Given the description of an element on the screen output the (x, y) to click on. 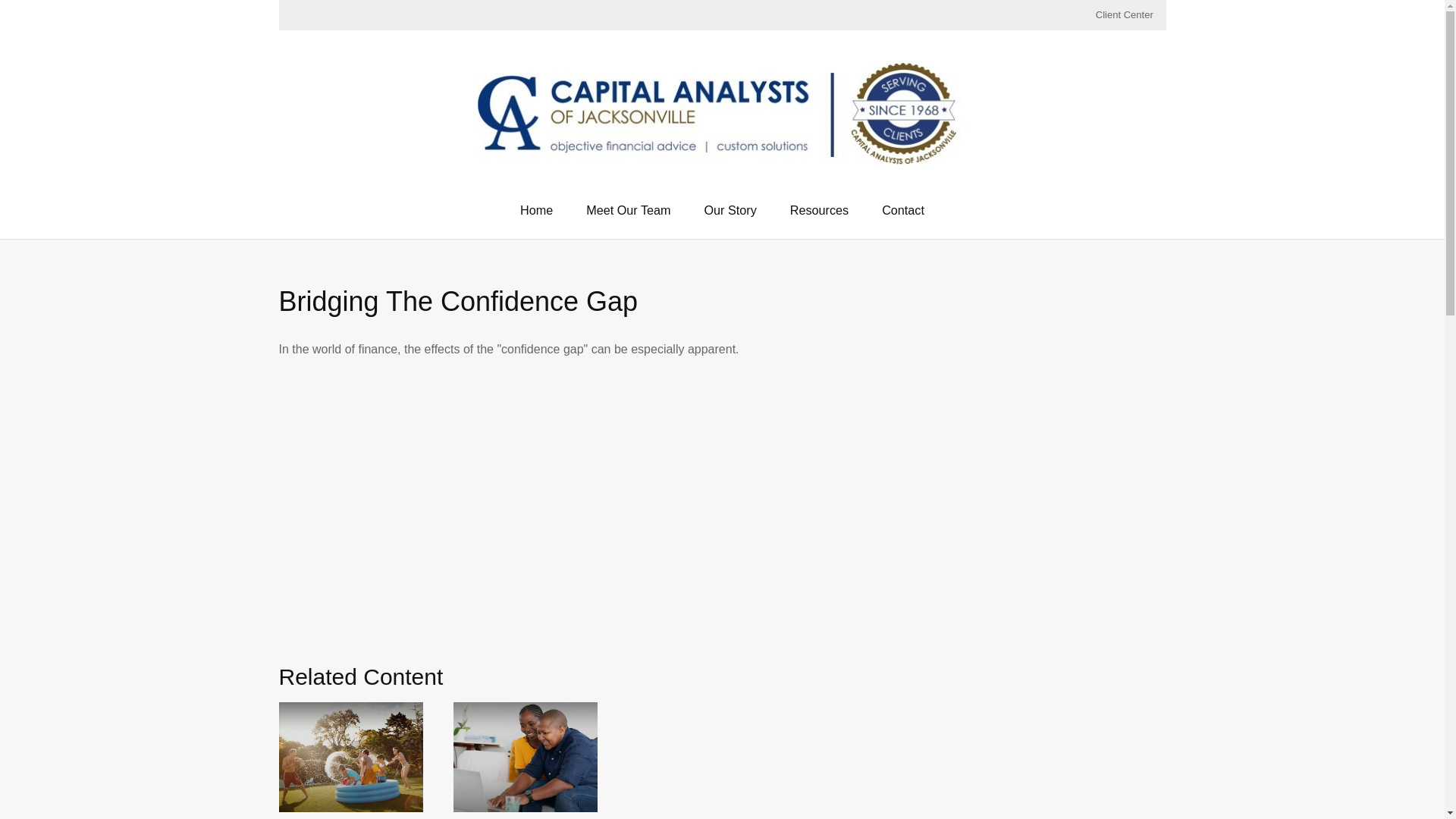
Home (536, 217)
Meet Our Team (628, 217)
Client Center (1124, 15)
Our Story (728, 217)
Contact (903, 217)
Resources (819, 217)
